Given the description of an element on the screen output the (x, y) to click on. 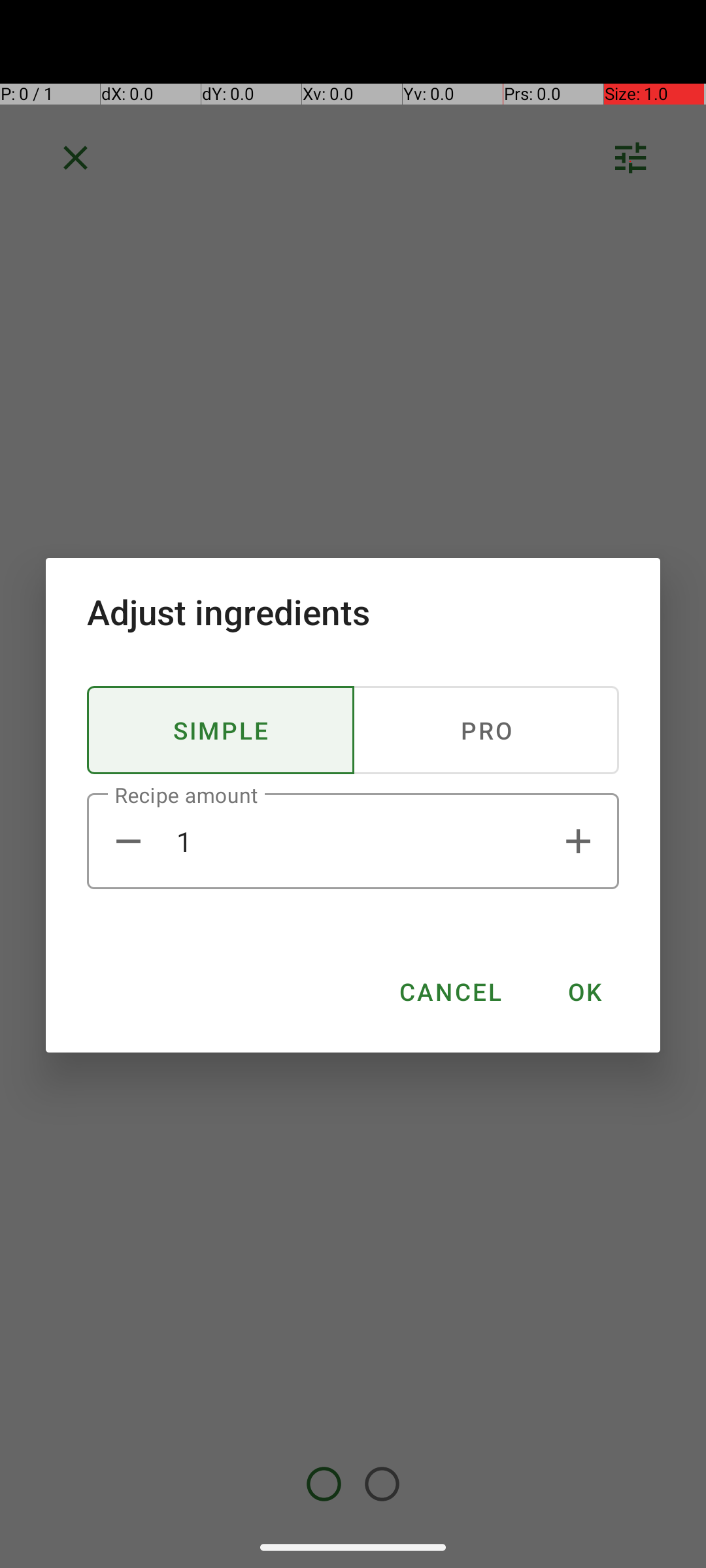
SIMPLE Element type: android.widget.CompoundButton (220, 730)
PRO Element type: android.widget.CompoundButton (485, 730)
